Given the description of an element on the screen output the (x, y) to click on. 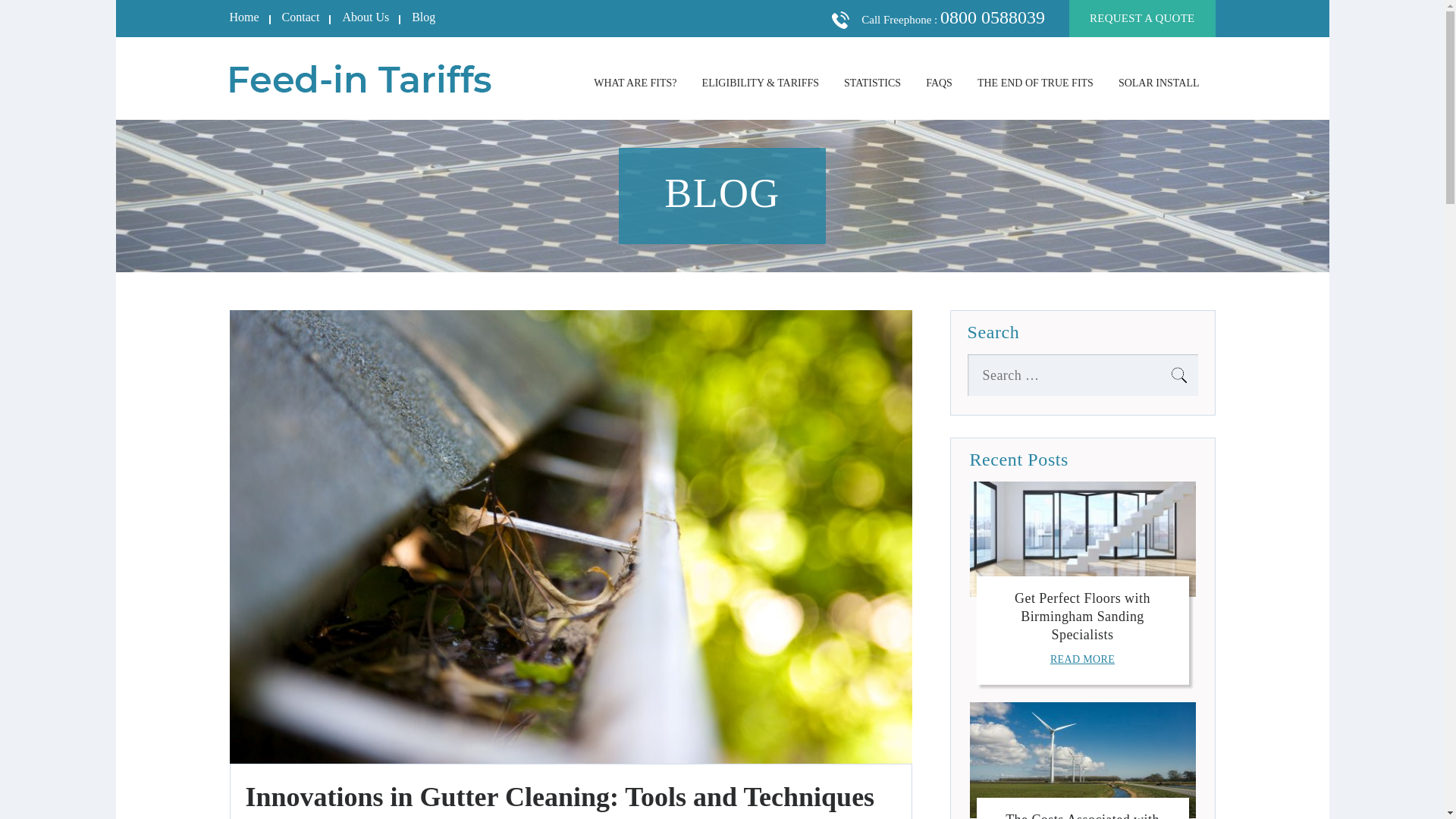
Contact (301, 16)
STATISTICS (872, 82)
0800 0588039 (992, 17)
SOLAR INSTALL (1158, 82)
READ MORE (1082, 659)
Blog (423, 16)
THE END OF TRUE FITS (1034, 82)
FAQS (939, 82)
REQUEST A QUOTE (1141, 18)
Search (1179, 375)
About Us (365, 16)
Get Perfect Floors with Birmingham Sanding Specialists (1082, 616)
WHAT ARE FITS? (635, 82)
Home (243, 16)
